Given the description of an element on the screen output the (x, y) to click on. 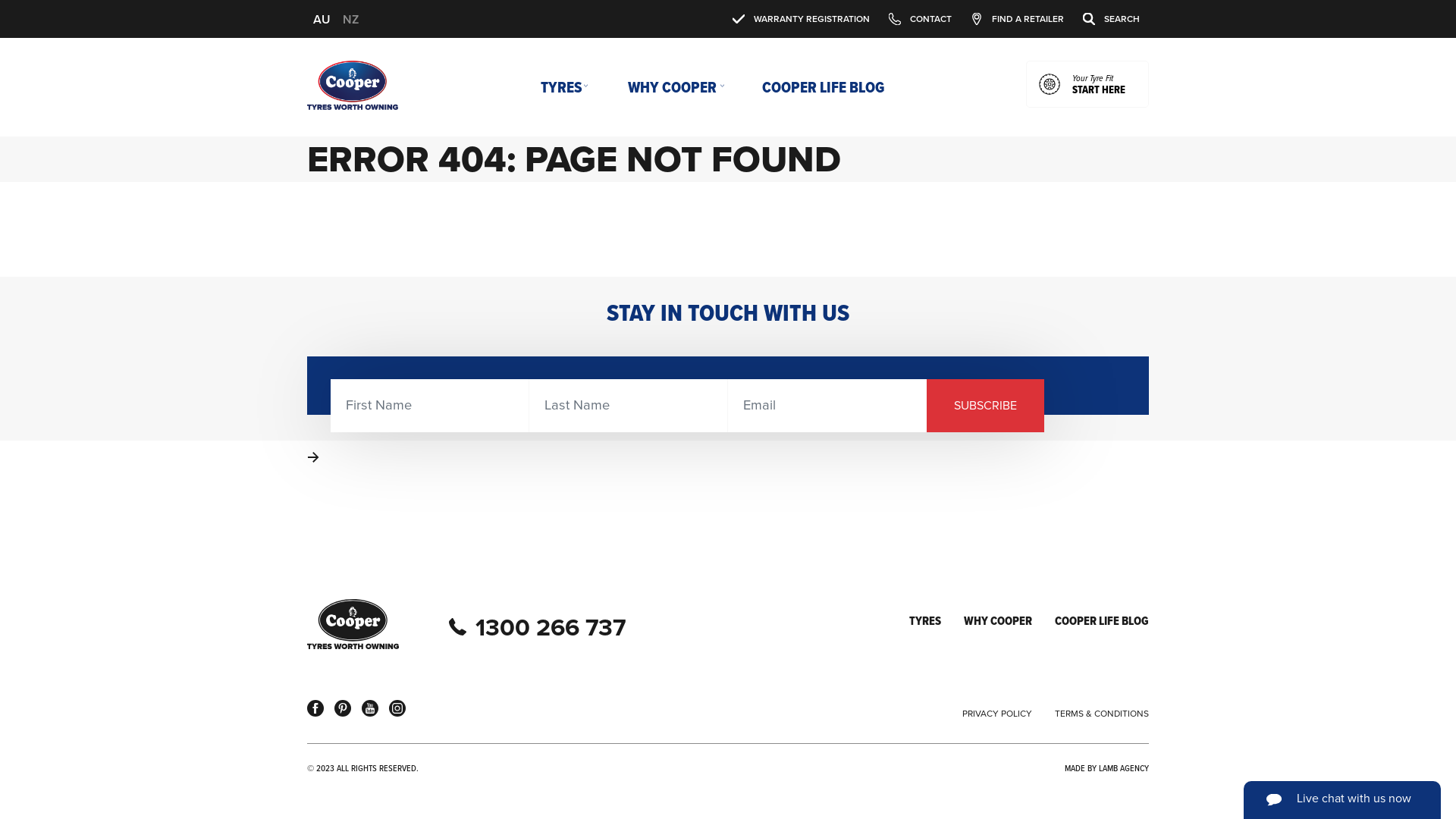
COOPER LIFE BLOG Element type: text (822, 87)
WARRANTY REGISTRATION Element type: text (811, 18)
MADE BY LAMB AGENCY Element type: text (1106, 768)
TERMS & CONDITIONS Element type: text (1101, 713)
AU Element type: text (321, 18)
COOPER LIFE BLOG Element type: text (1101, 620)
CONTACT Element type: text (930, 18)
youtube Element type: text (369, 707)
PRIVACY POLICY Element type: text (997, 713)
Cooper Tires Element type: hover (352, 84)
TYRES Element type: text (560, 87)
NZ Element type: text (350, 18)
1300 266 737 Element type: text (550, 626)
Your Tyre Fit
START HERE Element type: text (1087, 83)
TYRES Element type: text (925, 620)
Cooper Tires monochrome Element type: hover (352, 624)
WHY COOPER Element type: text (997, 620)
FIND A RETAILER Element type: text (1027, 18)
facebook Element type: text (315, 707)
pinterest Element type: text (342, 707)
WHY COOPER Element type: text (671, 87)
instagram Element type: text (397, 707)
SUBSCRIBE Element type: text (985, 405)
